Given the description of an element on the screen output the (x, y) to click on. 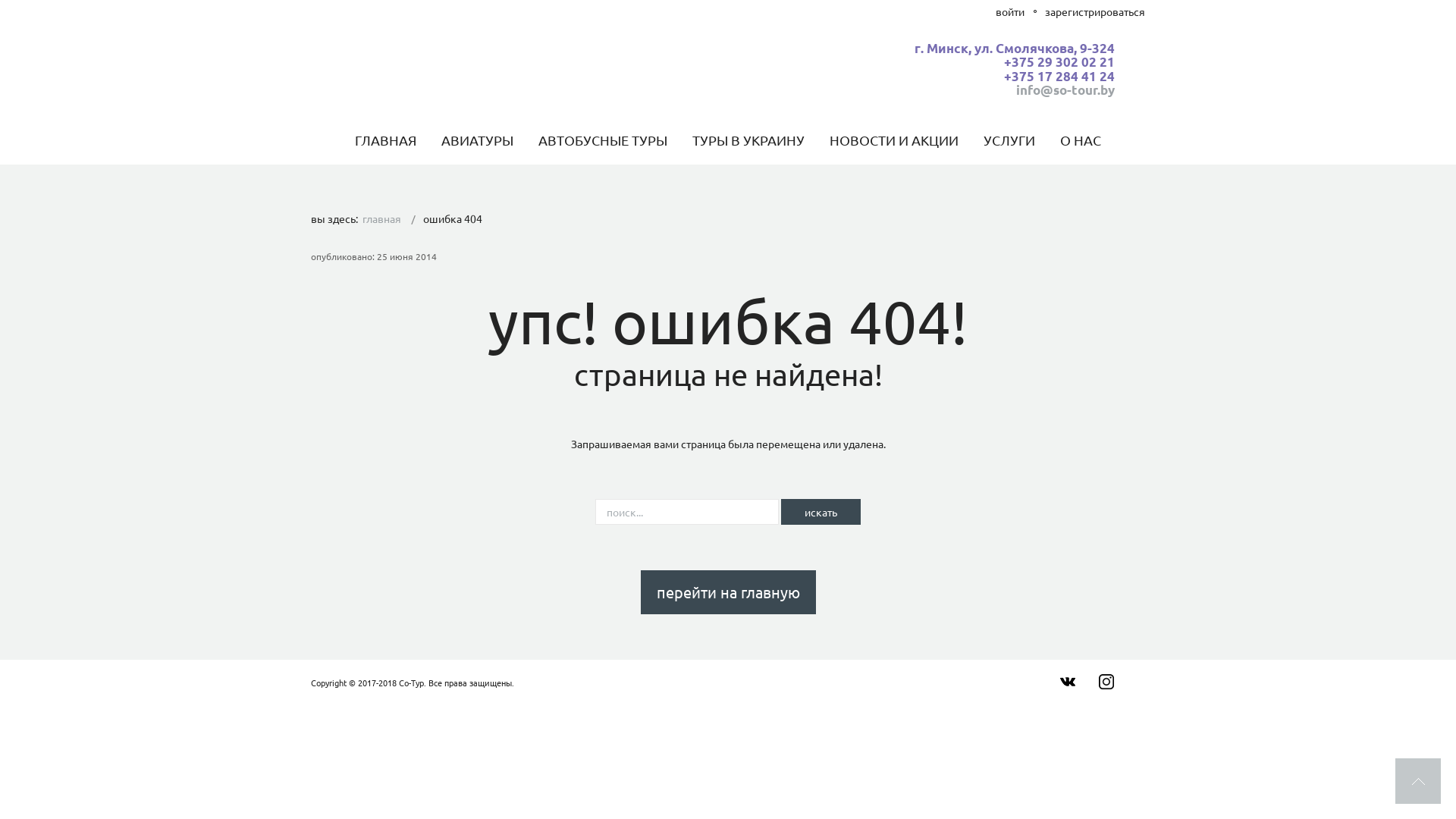
info@so-tour.by Element type: text (1065, 89)
  Element type: text (1417, 780)
  Element type: text (1066, 681)
